Given the description of an element on the screen output the (x, y) to click on. 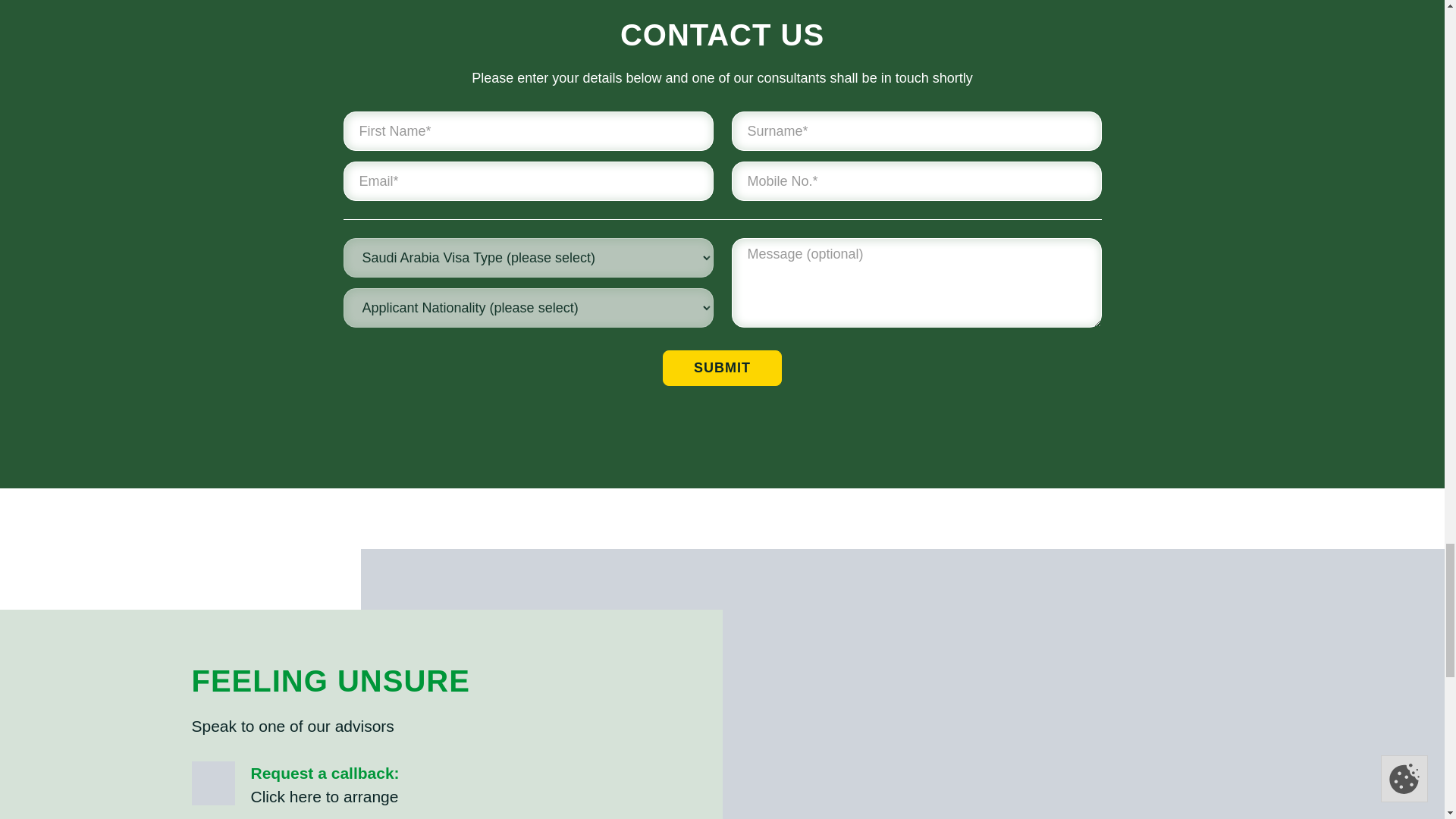
Submit (721, 367)
